Given the description of an element on the screen output the (x, y) to click on. 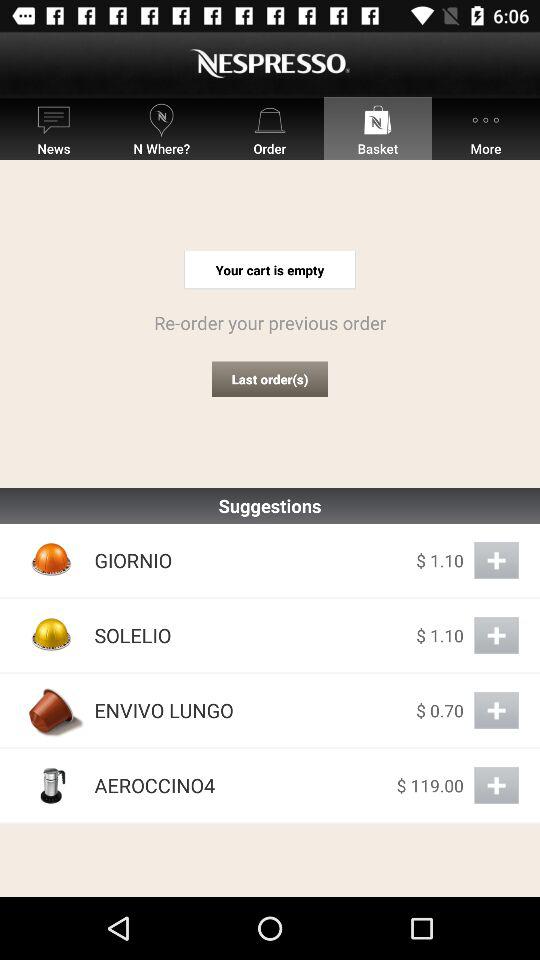
add envivo lungo to cart (496, 710)
